Given the description of an element on the screen output the (x, y) to click on. 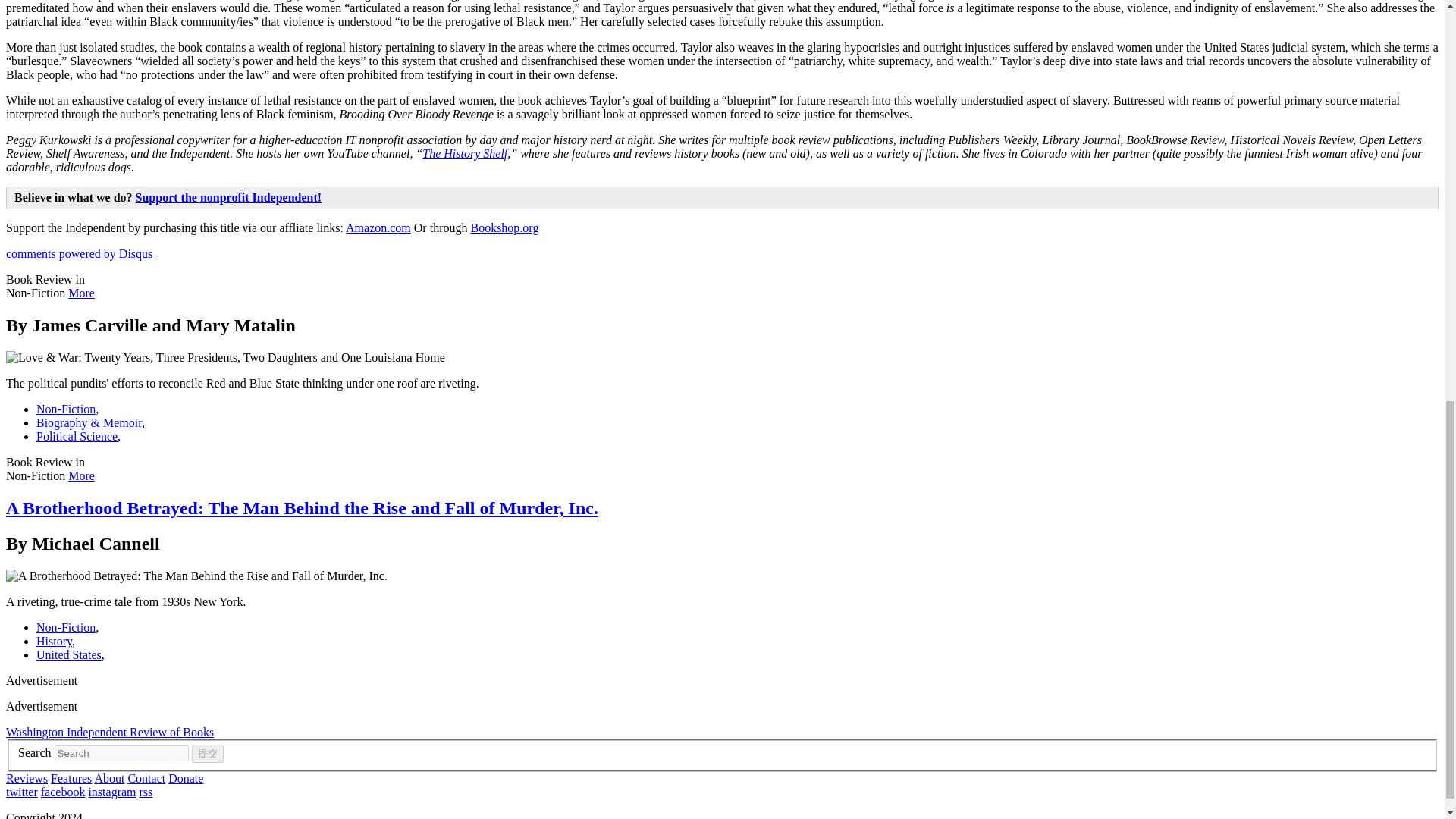
comments powered by Disqus (78, 253)
Non-Fiction (66, 626)
Non-Fiction (66, 408)
Bookshop.org (504, 227)
United States (68, 654)
Amazon.com (378, 227)
History (53, 640)
More (81, 292)
Political Science (76, 436)
More (81, 475)
Support the nonprofit Independent! (228, 196)
The History Shelf (464, 153)
Washington Independent Review of Books (109, 731)
